Given the description of an element on the screen output the (x, y) to click on. 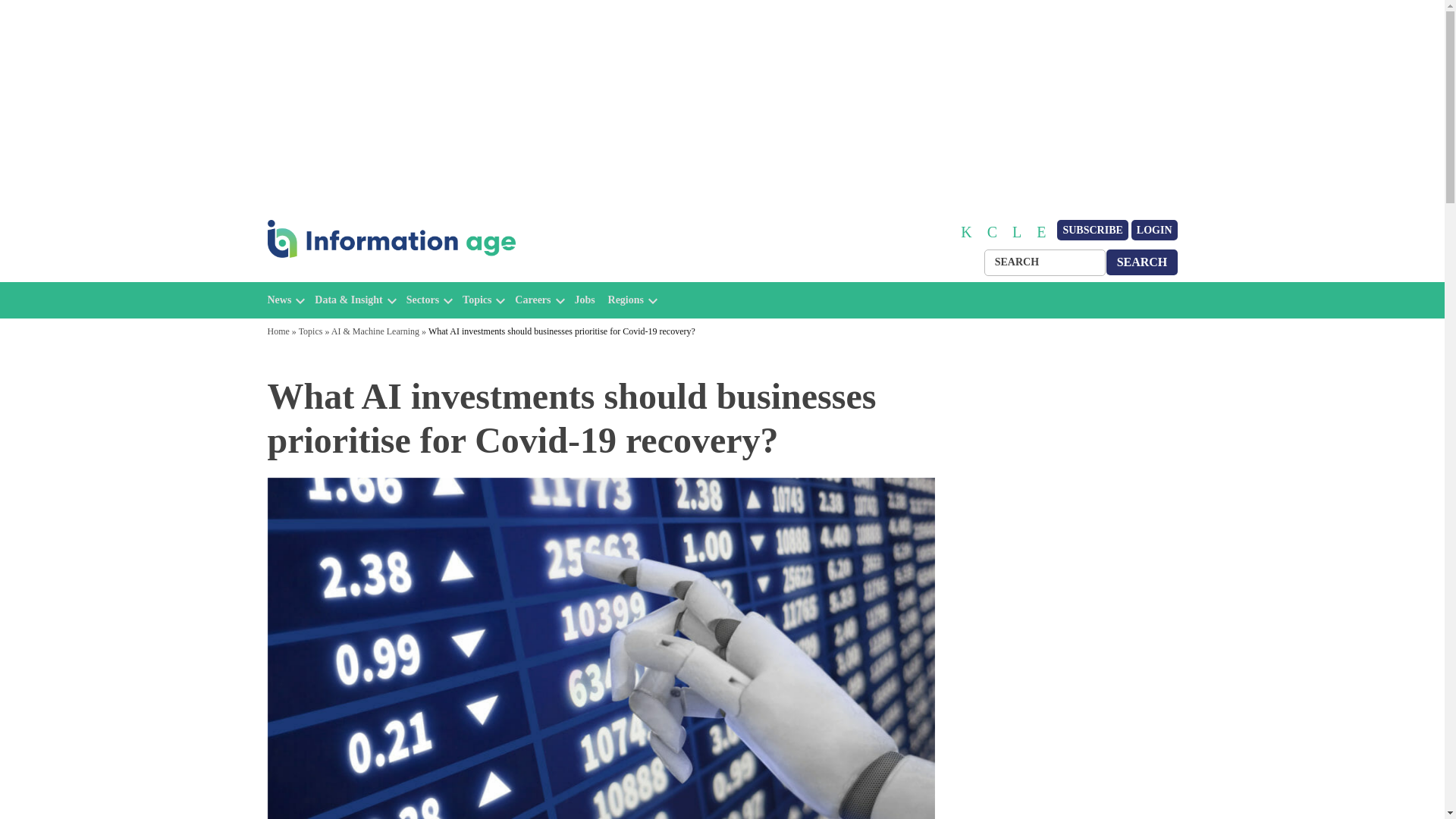
SEARCH (1142, 261)
Sectors (422, 299)
3rd party ad content (1062, 469)
Information Age (331, 275)
LOGIN (1154, 230)
News (278, 299)
SUBSCRIBE (1091, 230)
